Given the description of an element on the screen output the (x, y) to click on. 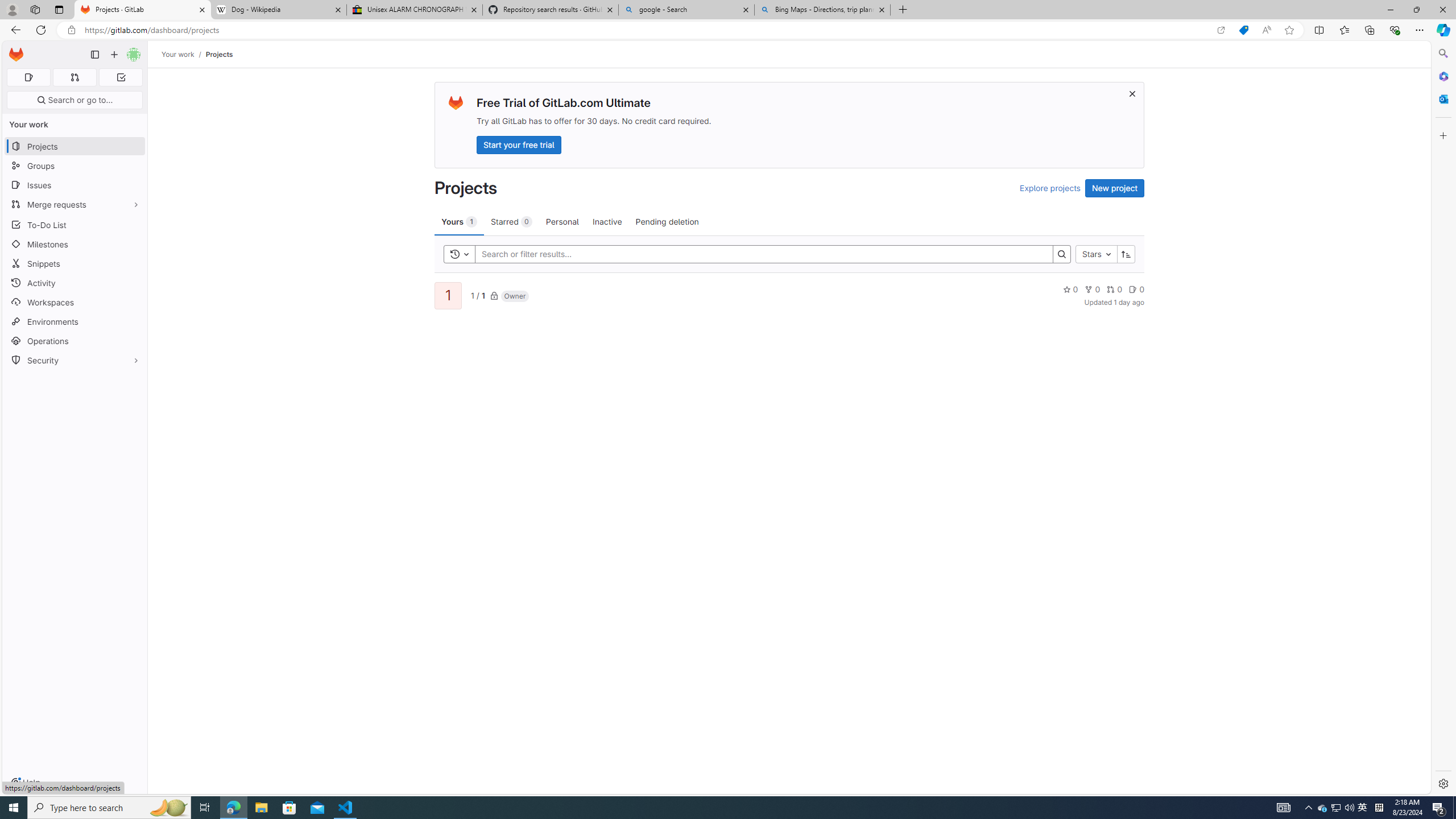
Snippets (74, 262)
Homepage (16, 54)
Environments (74, 321)
Create new... (113, 54)
Issues (74, 185)
Customize (1442, 135)
To-Do List (74, 224)
11 / 1Owner0000Updated 1 day ago (788, 295)
Activity (74, 282)
